Given the description of an element on the screen output the (x, y) to click on. 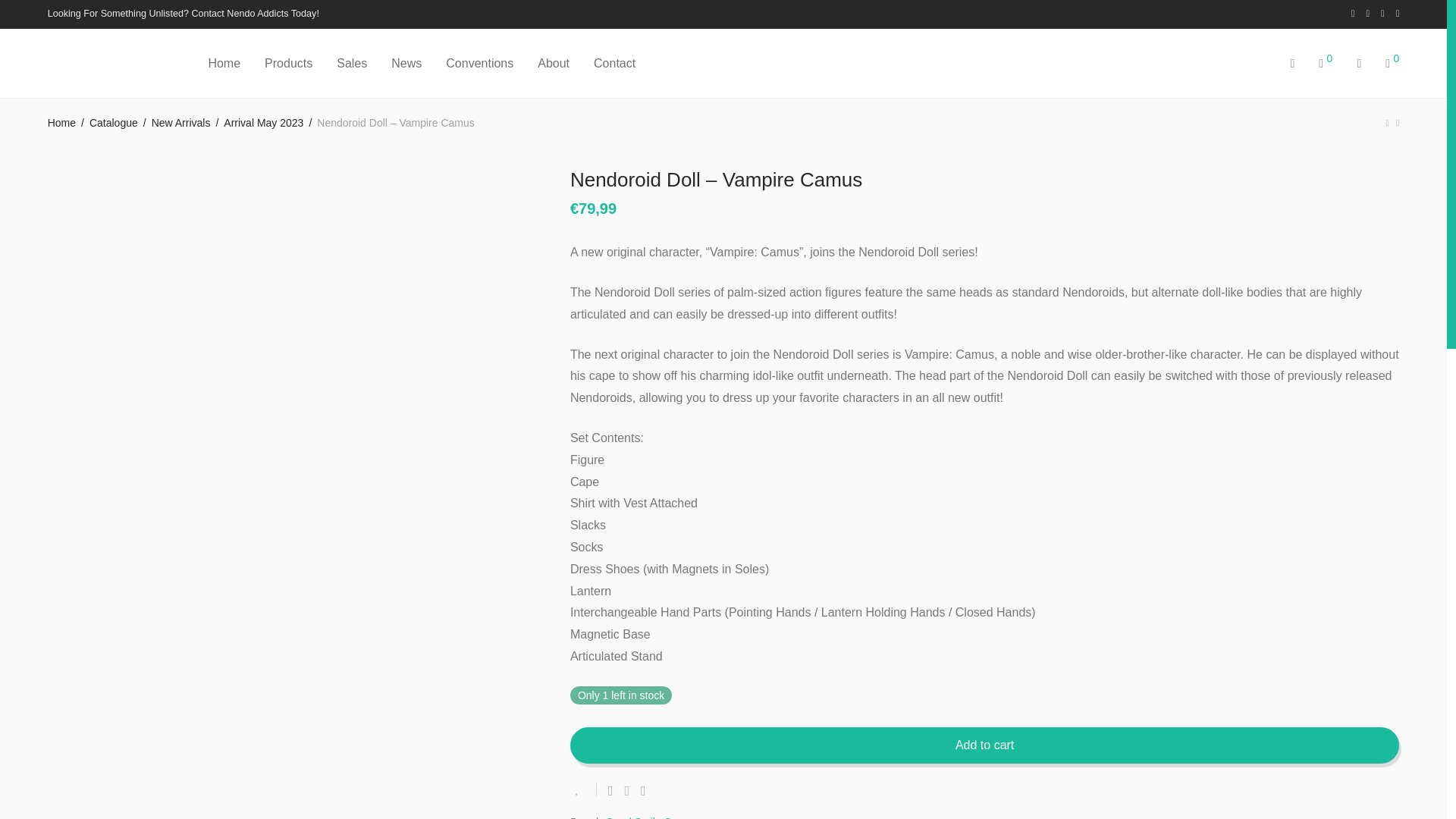
About (552, 63)
View brand (657, 815)
Sales (351, 63)
Add to Wishlist (583, 789)
Catalogue (113, 122)
0 (1324, 63)
Add to cart (984, 745)
Conventions (479, 63)
New Arrivals (181, 122)
News (405, 63)
Products (287, 63)
Contact (607, 63)
Home (61, 122)
0 (1391, 63)
Arrival May 2023 (263, 122)
